Given the description of an element on the screen output the (x, y) to click on. 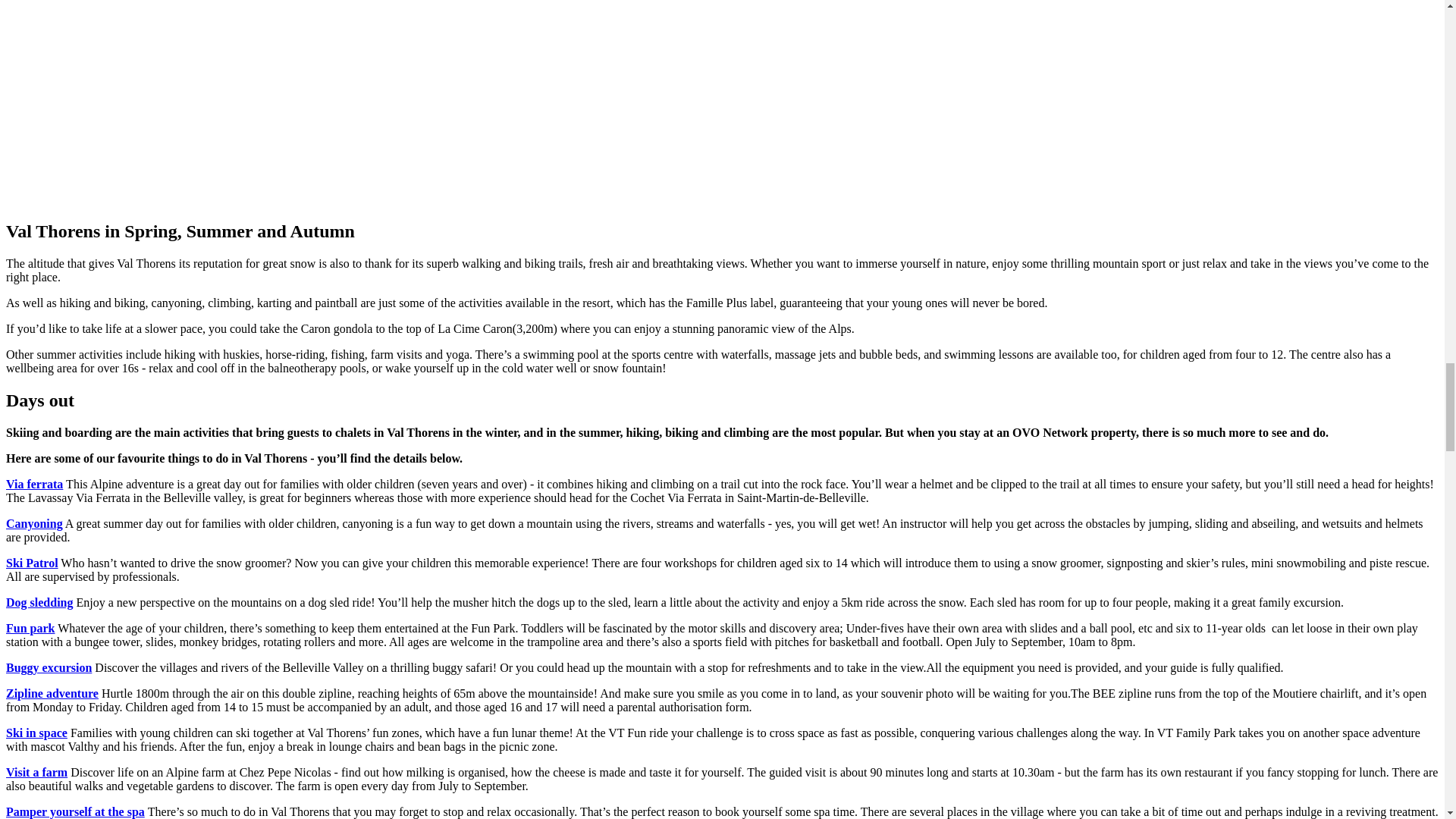
Ski Patrol (31, 562)
Visit a farm (35, 771)
Pamper yourself at the spa (74, 811)
Buggy excursion (48, 667)
Canyoning (33, 522)
Zipline adventure (52, 693)
Dog sledding (38, 602)
Fun park (30, 627)
Via ferrata (33, 483)
Ski in space (35, 732)
